Given the description of an element on the screen output the (x, y) to click on. 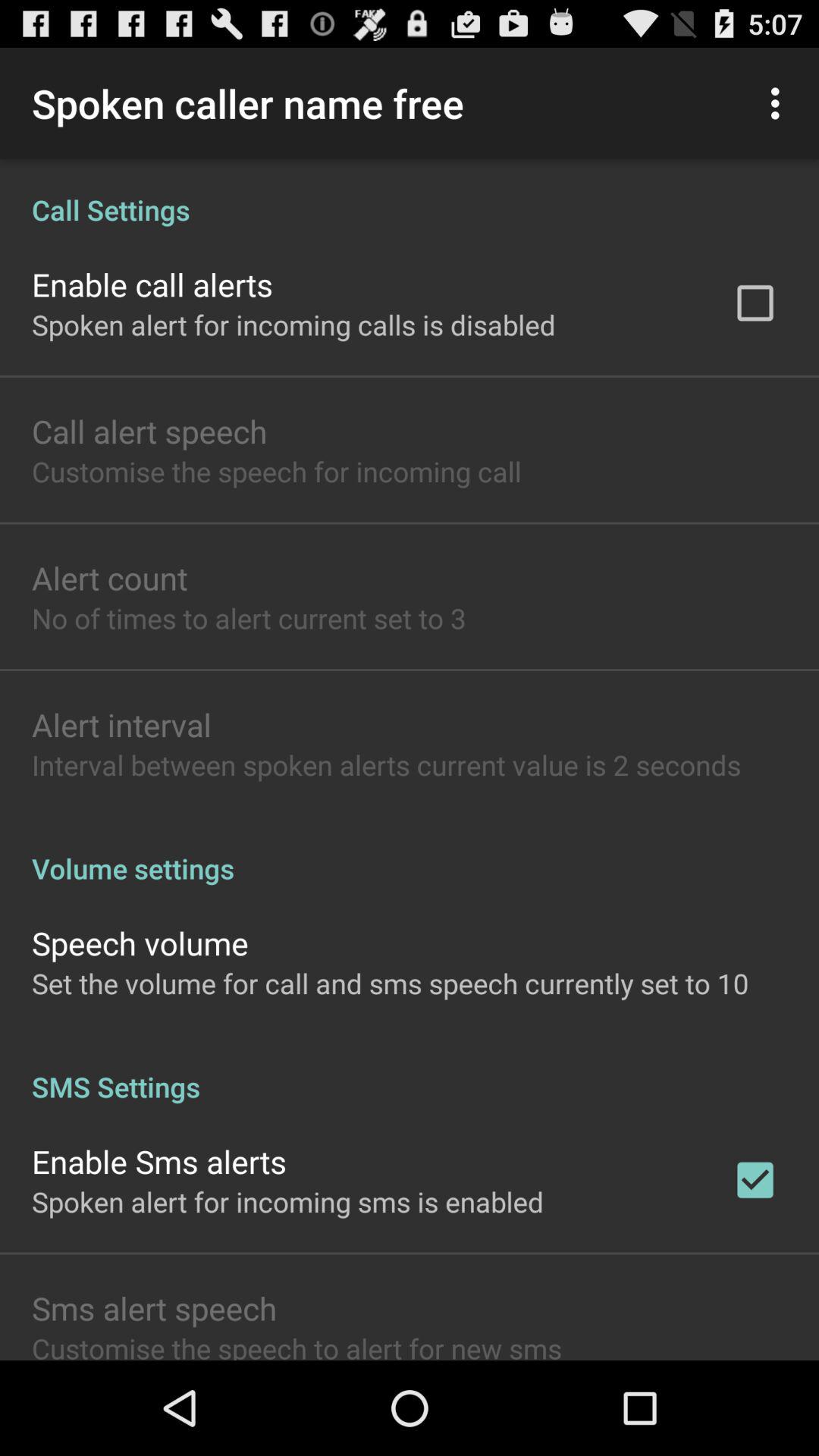
flip until interval between spoken icon (386, 764)
